Given the description of an element on the screen output the (x, y) to click on. 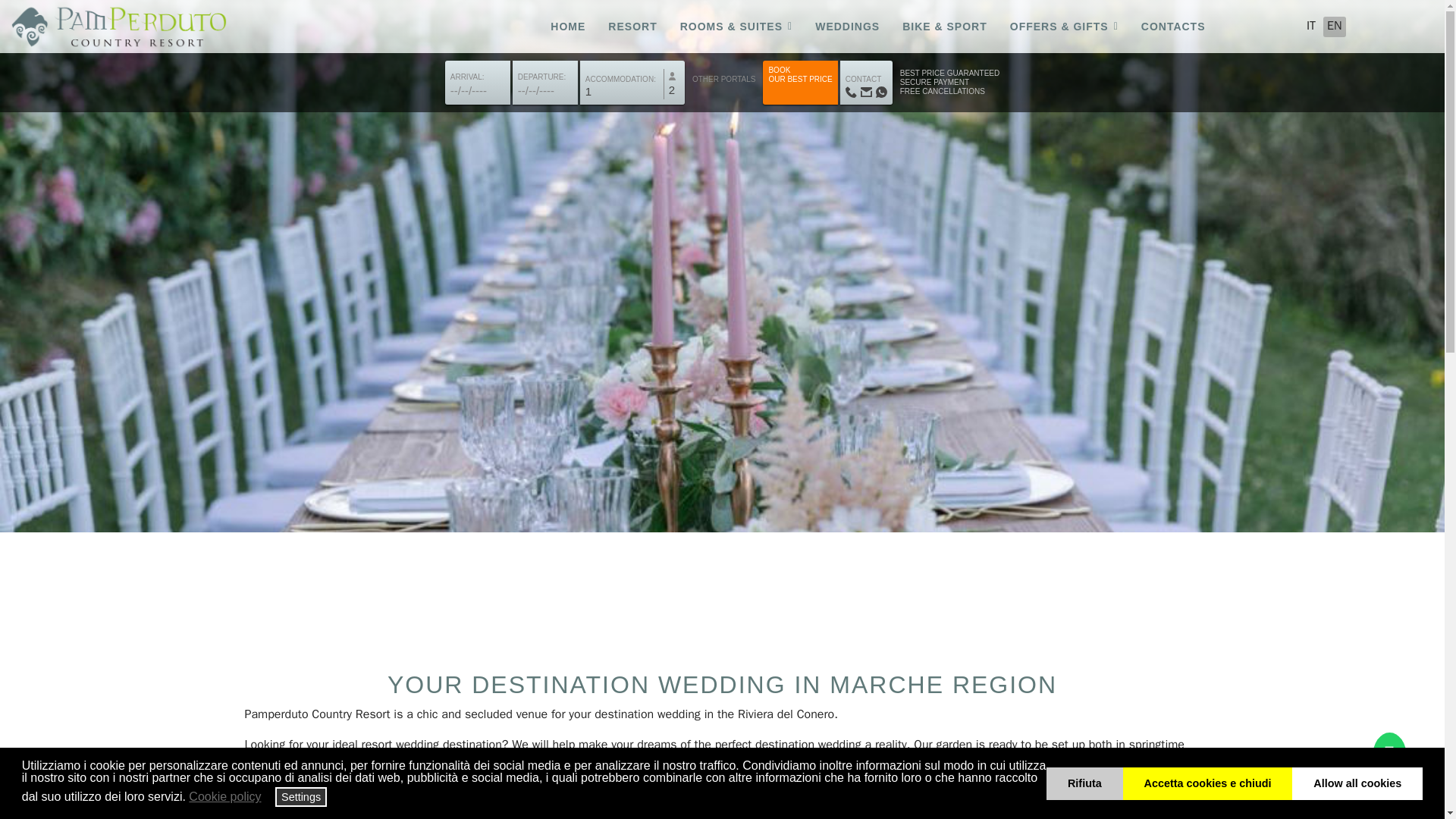
CONTACTS (1167, 26)
HOME (567, 26)
WEDDINGS (847, 26)
Allow all cookies (1357, 783)
Accetta cookies e chiudi (1207, 783)
RESORT (632, 26)
Cookie policy (226, 796)
EN (1334, 25)
Rifiuta (1084, 783)
